Given the description of an element on the screen output the (x, y) to click on. 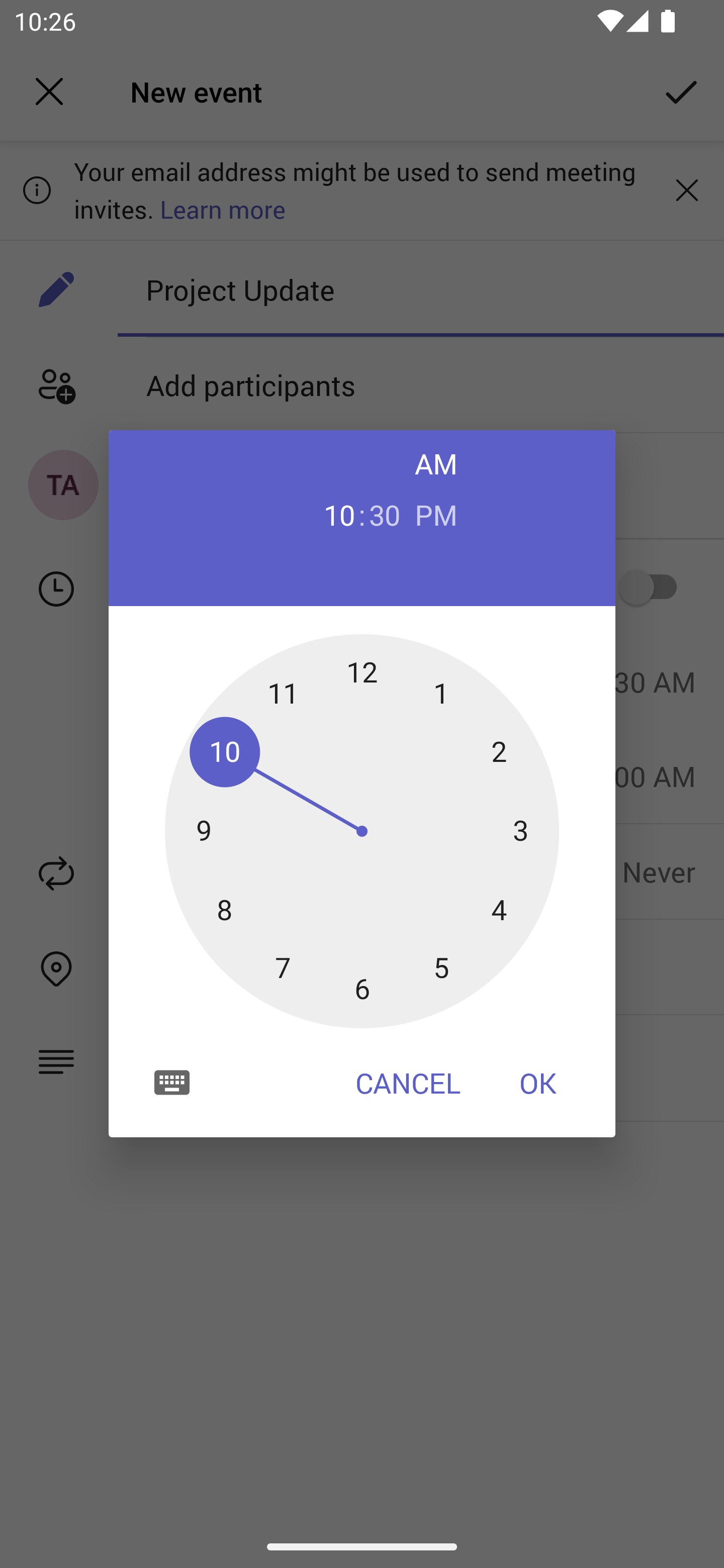
AM (435, 463)
PM (435, 514)
10 (338, 514)
30 (384, 514)
CANCEL (407, 1082)
OK (537, 1082)
Switch to text input mode for the time input. (171, 1081)
